Given the description of an element on the screen output the (x, y) to click on. 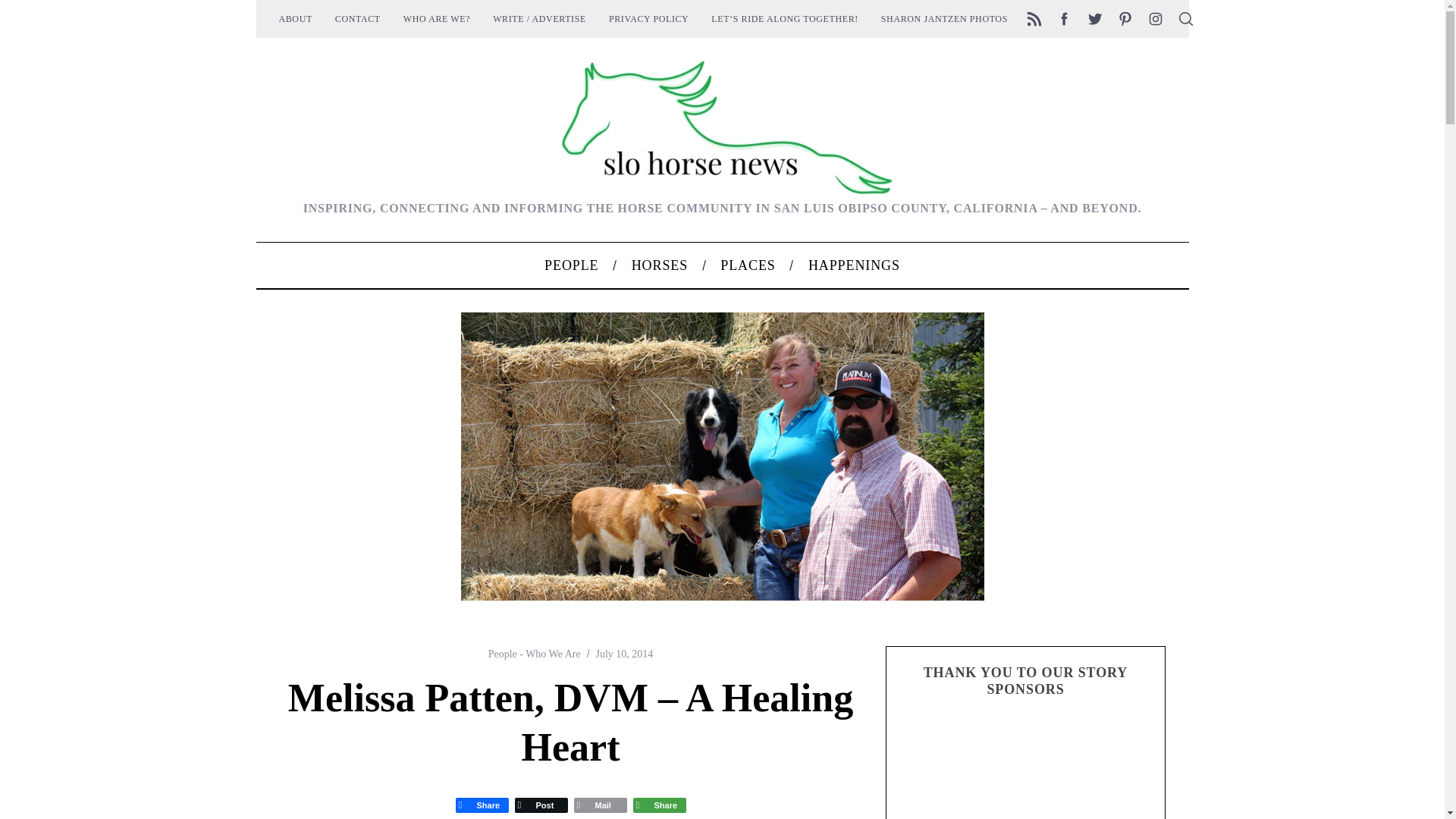
PRIVACY POLICY (648, 18)
CONTACT (357, 18)
PLACES (748, 265)
More Options (658, 804)
Facebook (481, 804)
WHO ARE WE? (436, 18)
Email This (599, 804)
HORSES (659, 265)
ABOUT (294, 18)
PEOPLE (570, 265)
